Given the description of an element on the screen output the (x, y) to click on. 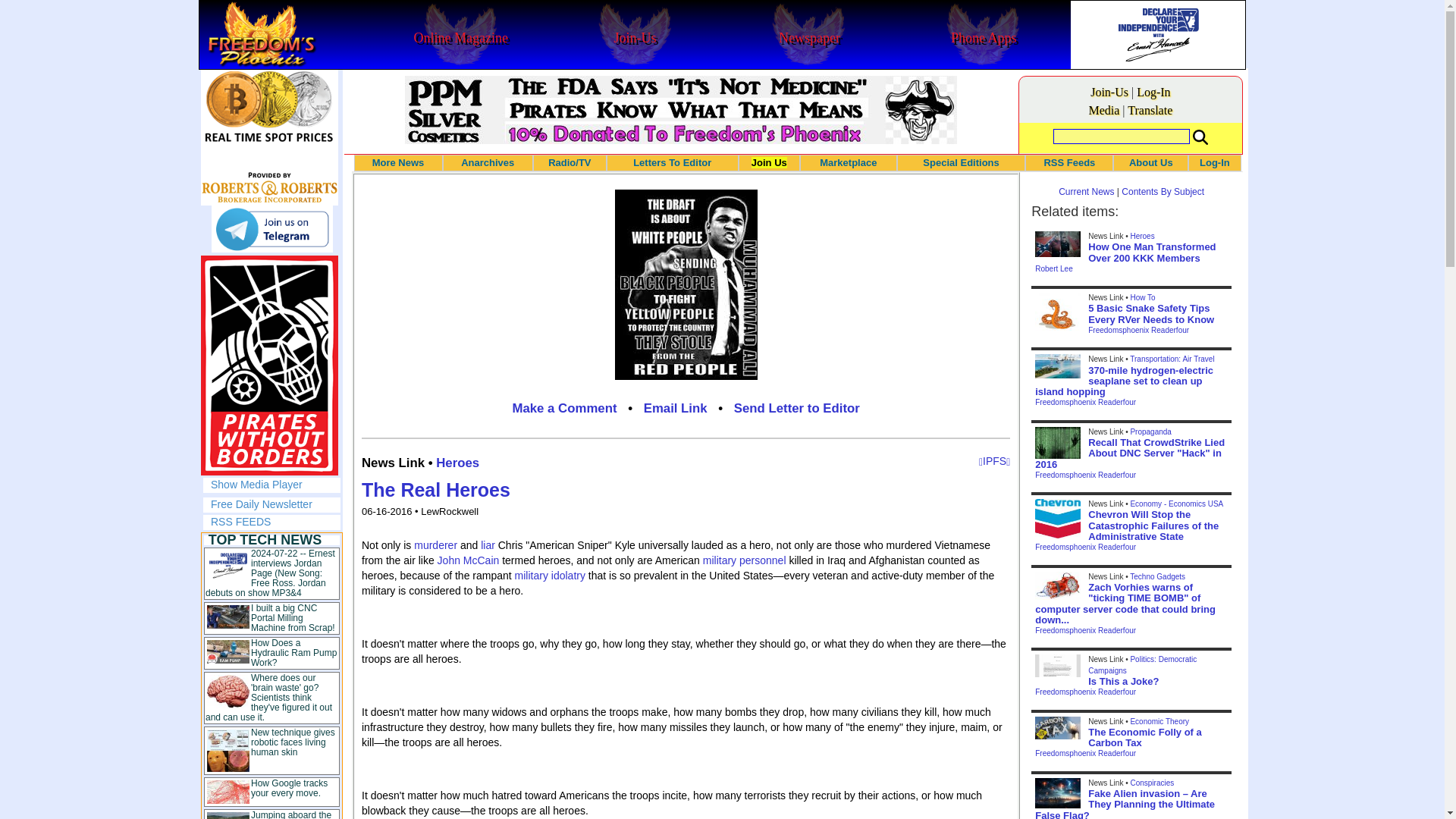
TOP TECH NEWS (264, 539)
RSS FEEDS (240, 521)
Declare Your Independence on Telegram (271, 229)
How Does a Hydraulic Ram Pump Work? (293, 653)
Show Media Player (256, 484)
I built a big CNC Portal Milling Machine from Scrap! (292, 617)
Free Daily Newsletter (262, 503)
New technique gives robotic faces living human skin (292, 742)
